Given the description of an element on the screen output the (x, y) to click on. 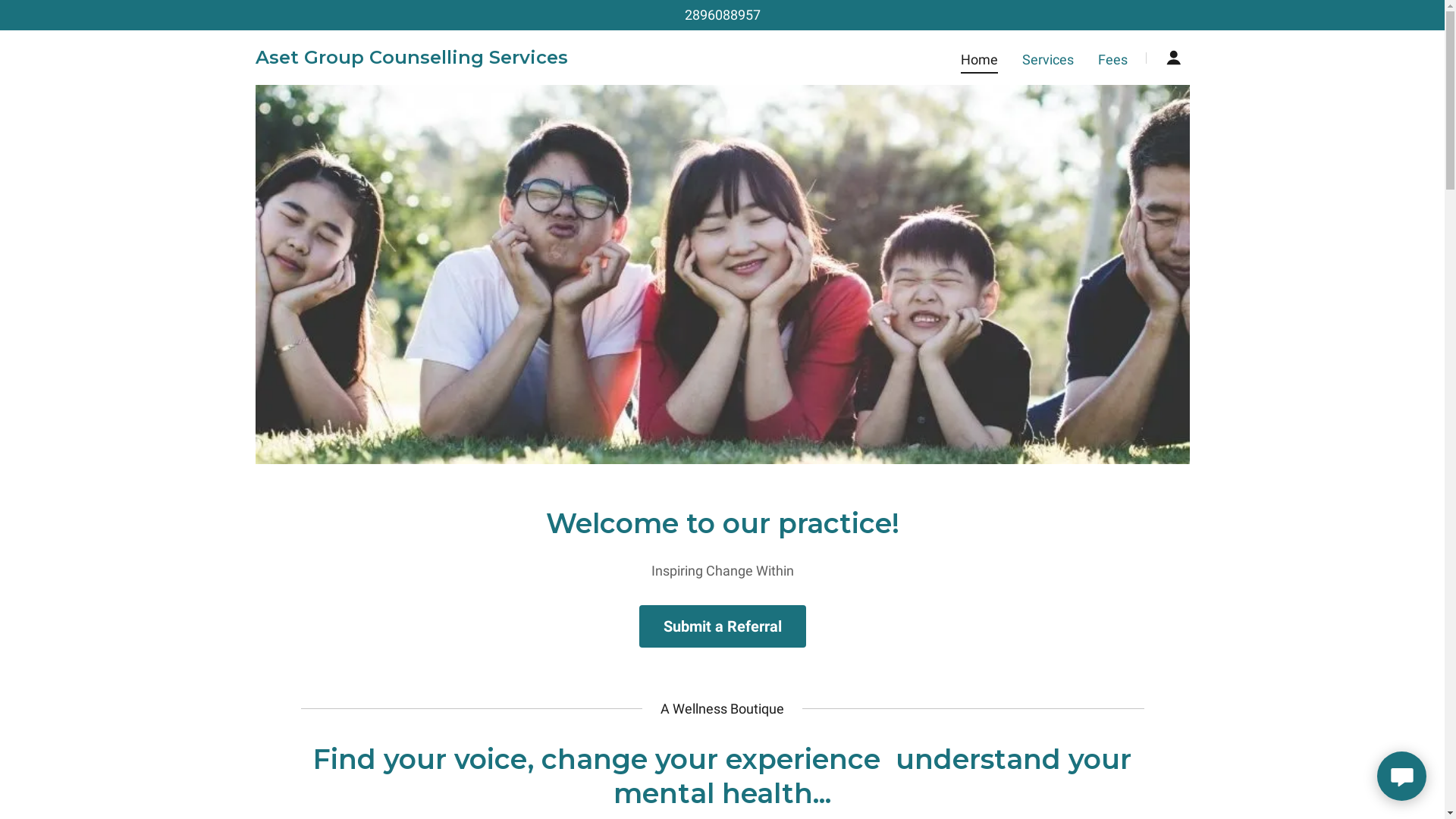
2896088957 Element type: text (721, 14)
Fees Element type: text (1112, 59)
Services Element type: text (1047, 59)
Submit a Referral Element type: text (721, 626)
Aset Group Counselling Services Element type: text (410, 58)
Home Element type: text (978, 61)
